Given the description of an element on the screen output the (x, y) to click on. 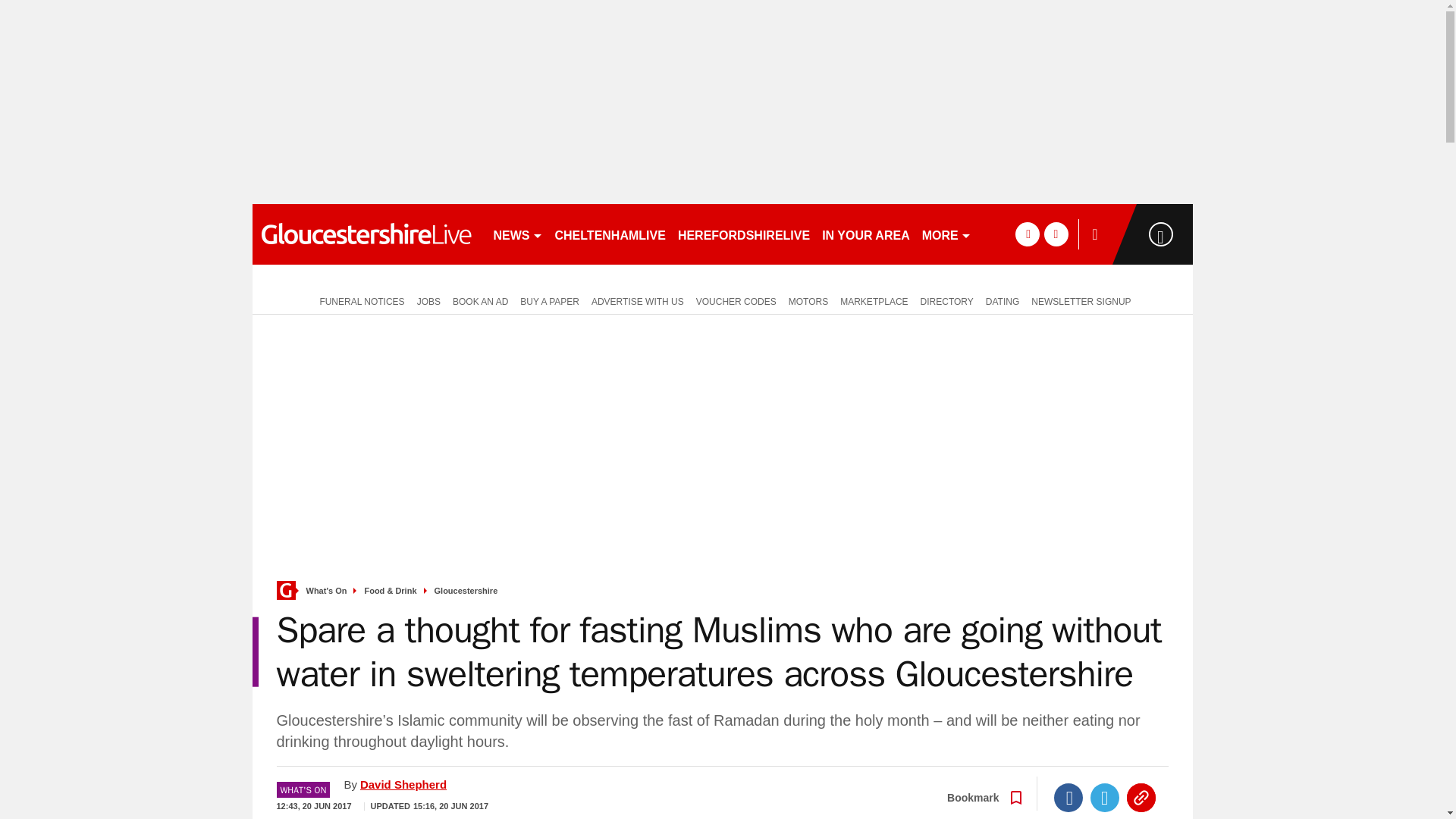
facebook (1026, 233)
Facebook (1068, 797)
IN YOUR AREA (865, 233)
MORE (945, 233)
Twitter (1104, 797)
CHELTENHAMLIVE (609, 233)
twitter (1055, 233)
HEREFORDSHIRELIVE (743, 233)
gloucestershirelive (365, 233)
NEWS (517, 233)
